Given the description of an element on the screen output the (x, y) to click on. 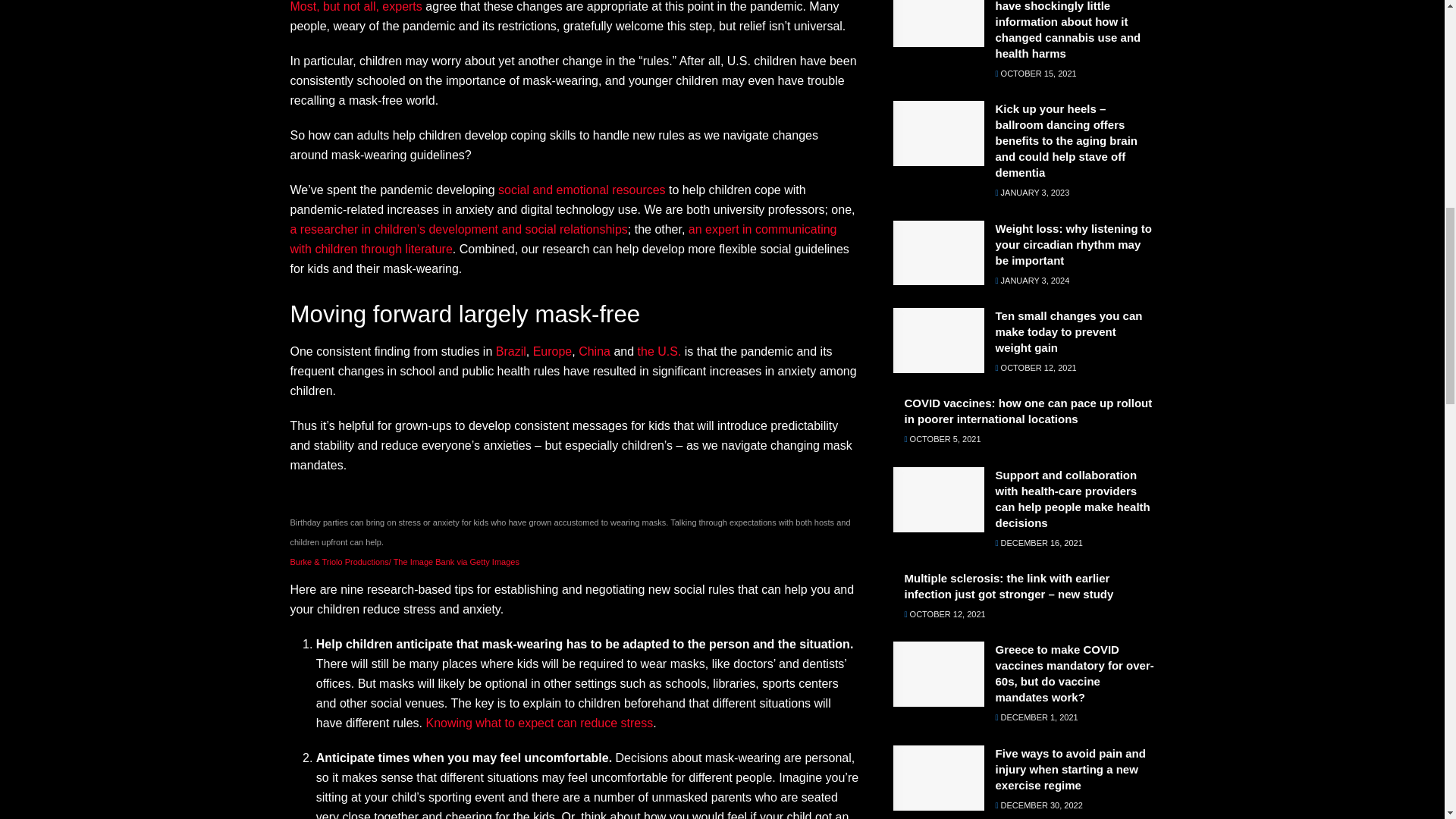
Most, but not all, experts (355, 6)
social and emotional resources (581, 189)
an expert in communicating with children through literature (562, 238)
